Given the description of an element on the screen output the (x, y) to click on. 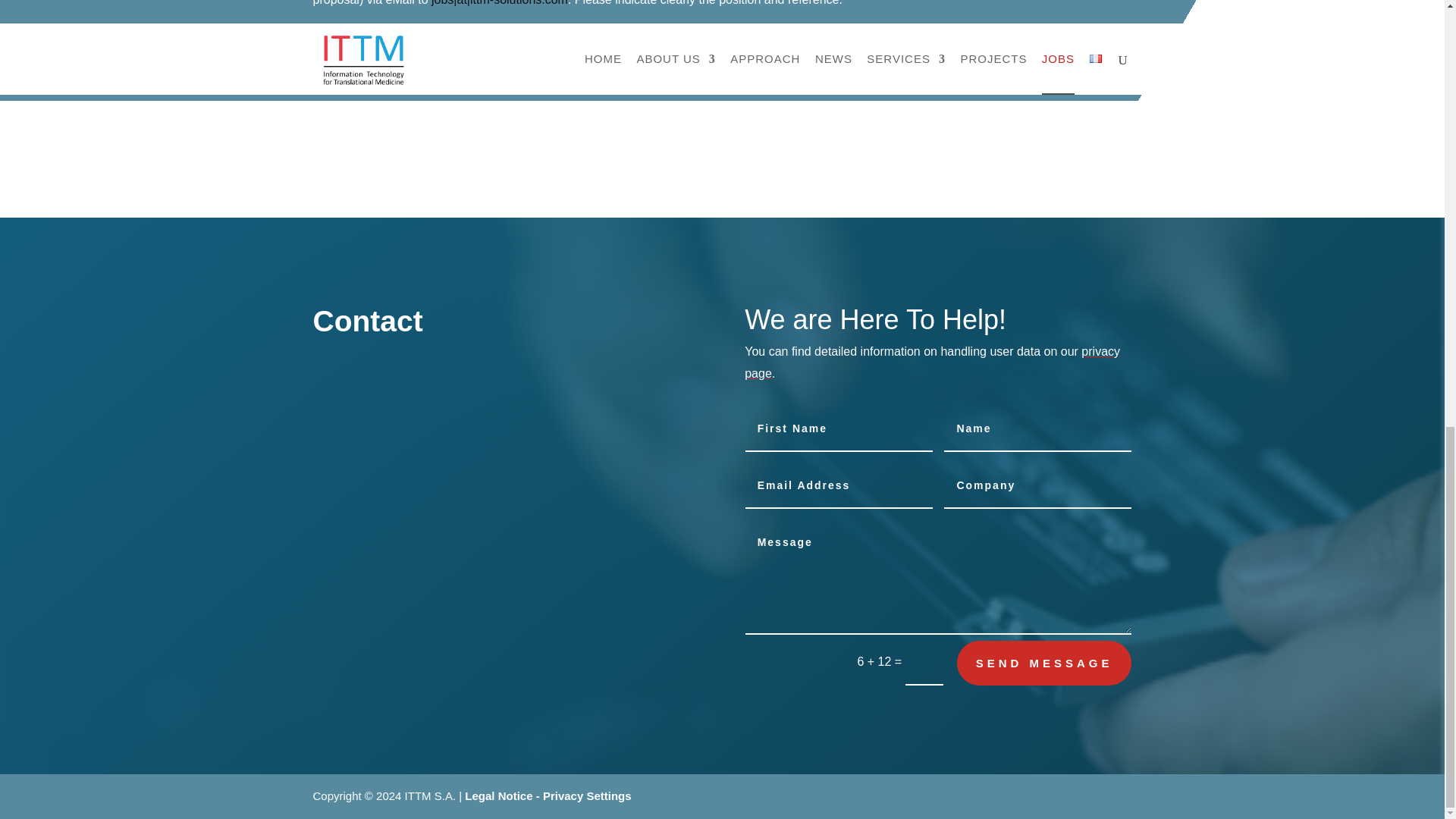
Legal Notice - Privacy Settings (547, 795)
privacy page (931, 362)
privacy settings (931, 362)
SEND MESSAGE (1044, 662)
